Given the description of an element on the screen output the (x, y) to click on. 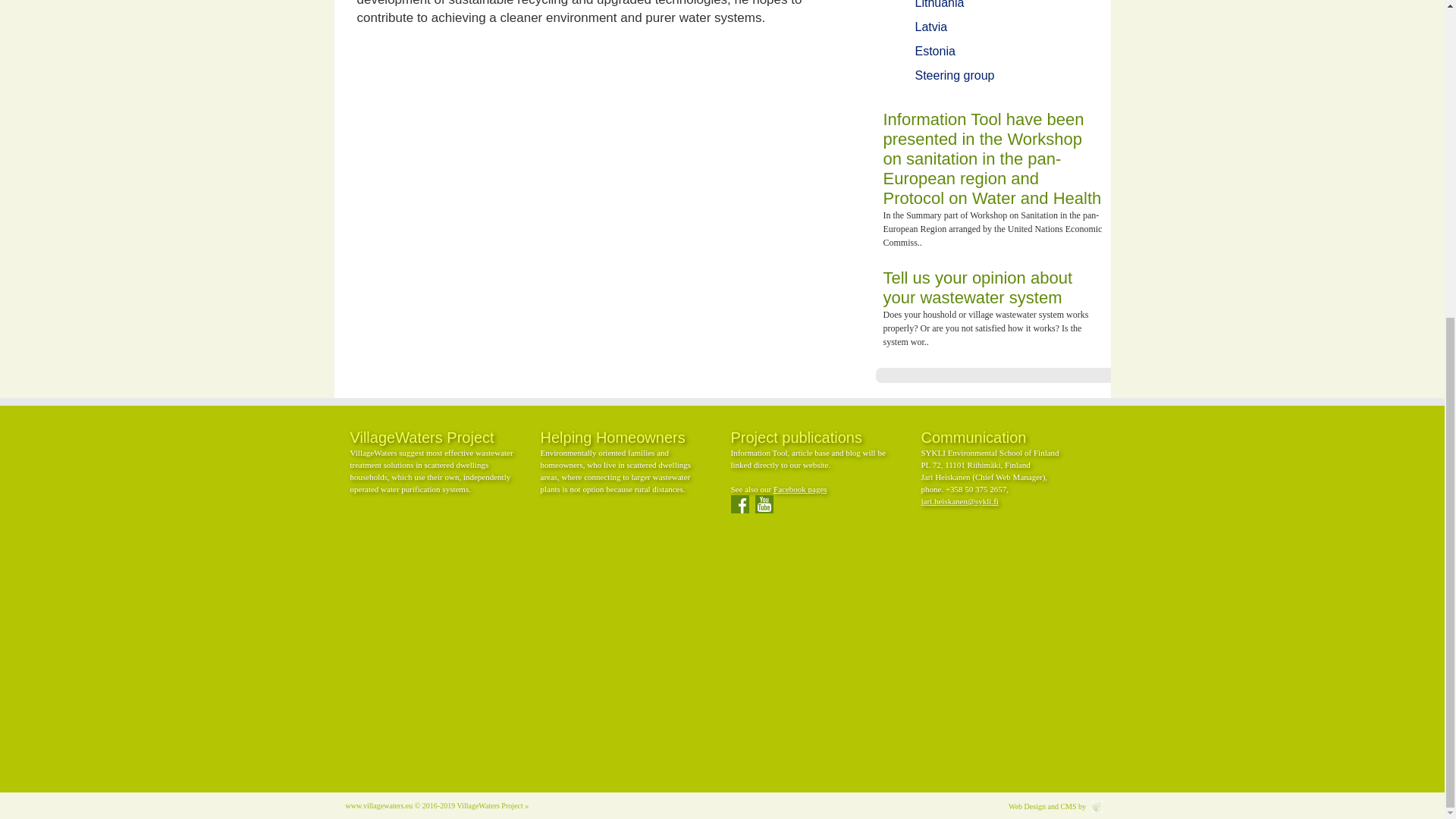
Vesa Joutsjoki Share in Facebook (756, 43)
Vesa Joutsjoki Share this Page (808, 43)
Vesa Joutsjoki Tweet in Twitter (706, 43)
